Given the description of an element on the screen output the (x, y) to click on. 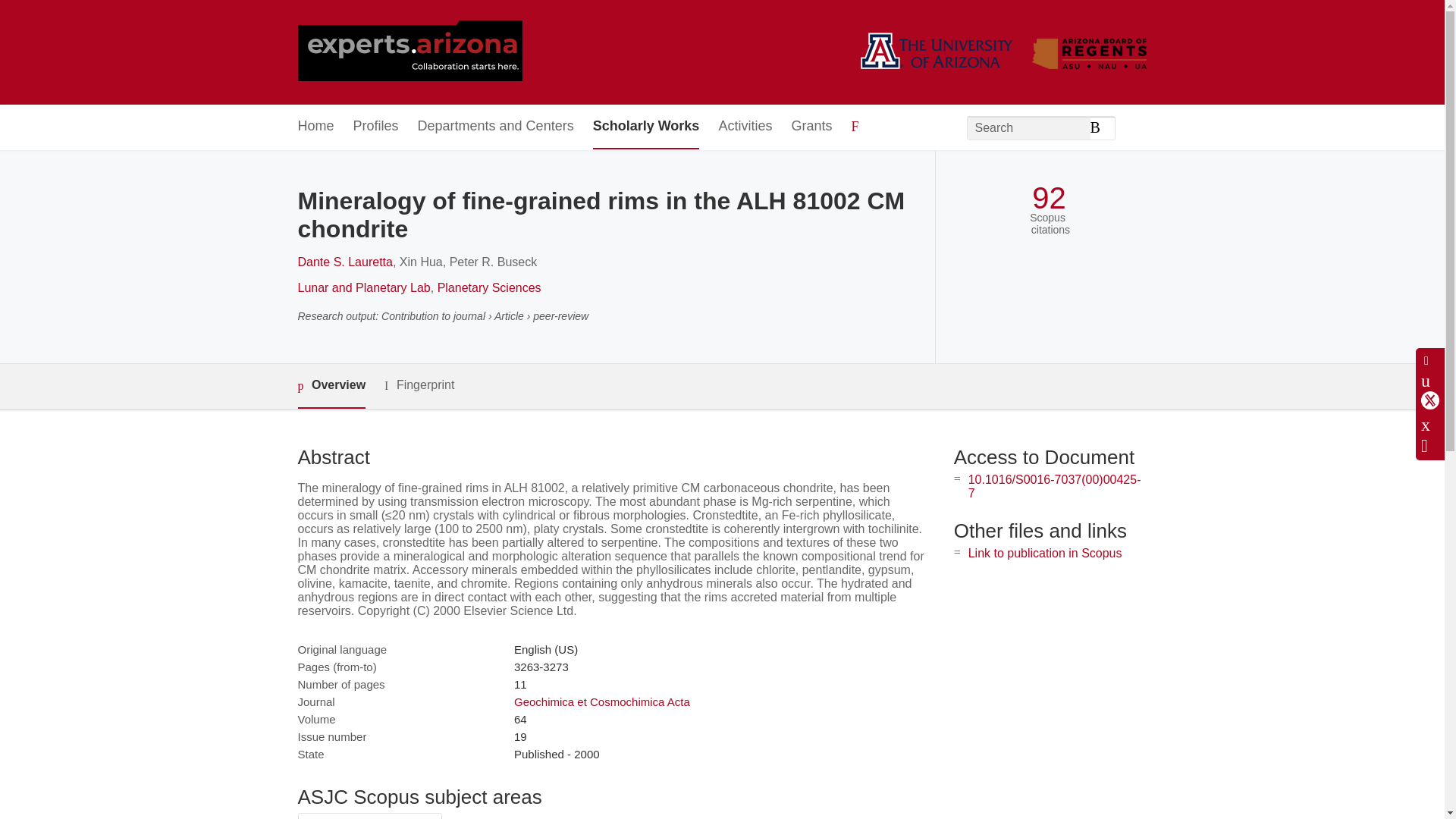
92 (1048, 198)
Lunar and Planetary Lab (363, 287)
Home (315, 126)
Activities (744, 126)
Scholarly Works (646, 126)
Planetary Sciences (489, 287)
Geochimica et Cosmochimica Acta (601, 701)
Fingerprint (419, 385)
University of Arizona Home (409, 52)
Departments and Centers (495, 126)
Link to publication in Scopus (1045, 553)
Dante S. Lauretta (344, 261)
Grants (810, 126)
Profiles (375, 126)
